Given the description of an element on the screen output the (x, y) to click on. 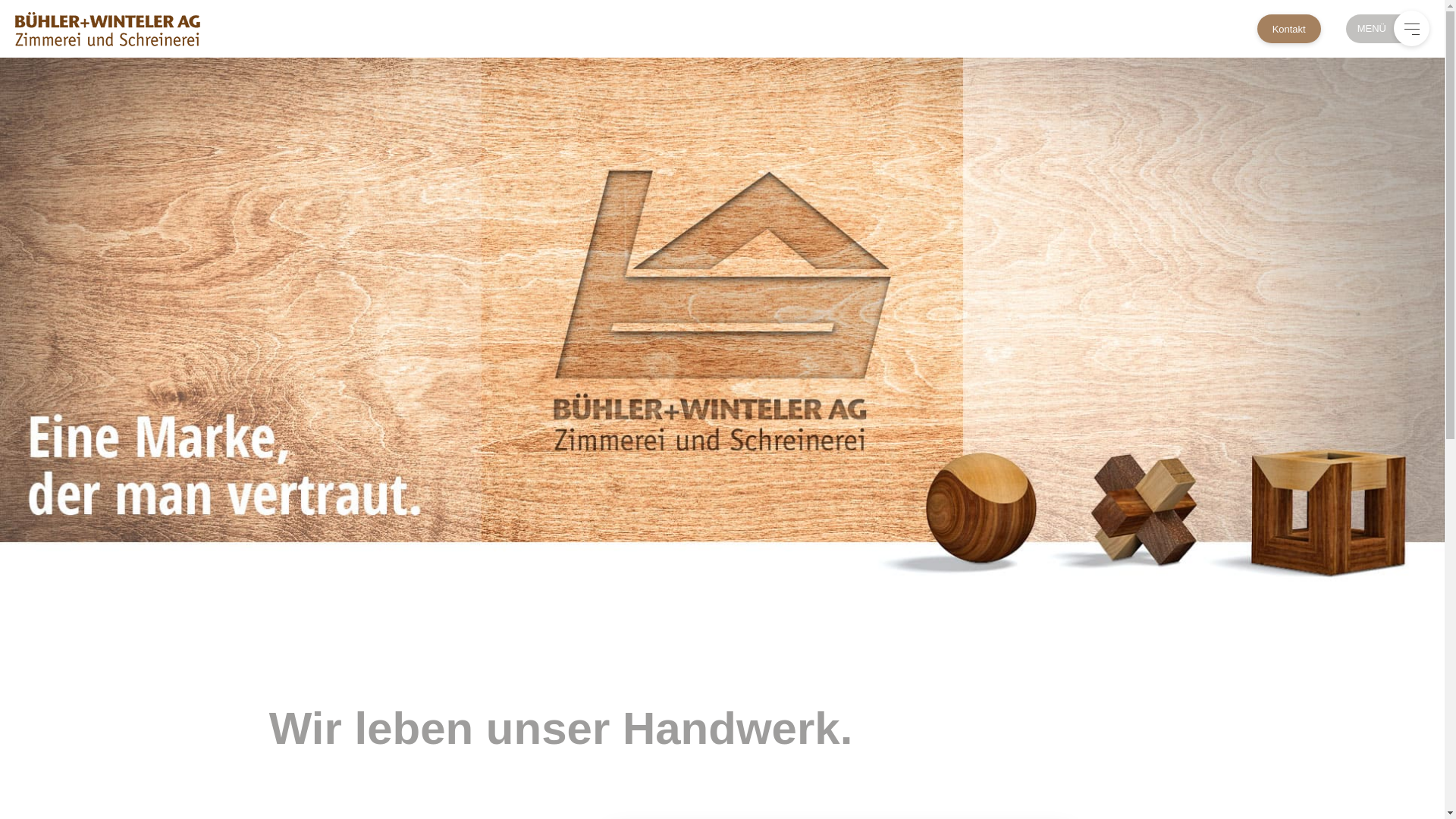
Kontakt Element type: text (1289, 28)
